Given the description of an element on the screen output the (x, y) to click on. 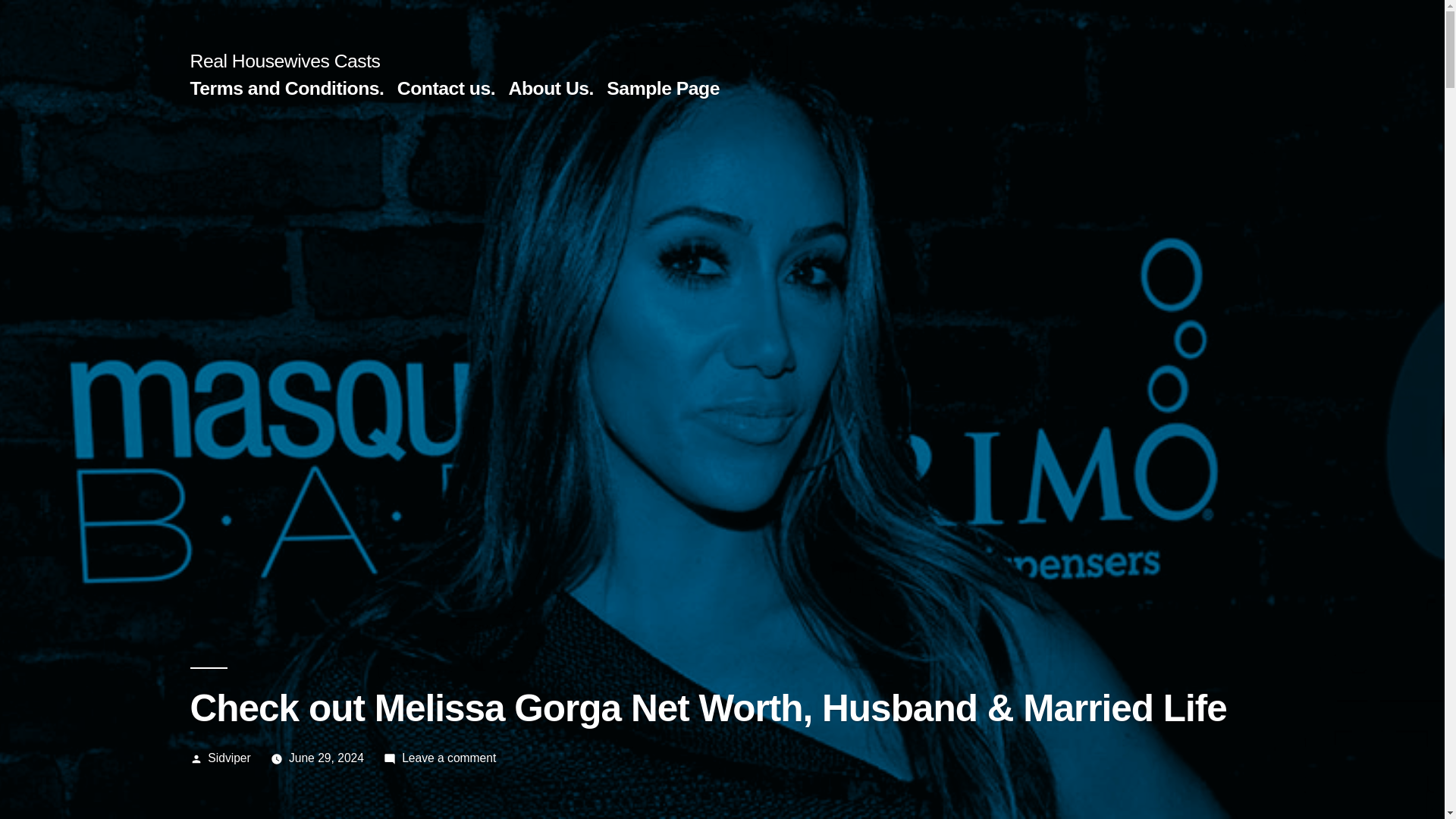
About Us. (551, 87)
Real Housewives Casts (284, 60)
Sidviper (229, 757)
Terms and Conditions. (286, 87)
June 29, 2024 (326, 757)
Sample Page (663, 87)
Contact us. (446, 87)
